Given the description of an element on the screen output the (x, y) to click on. 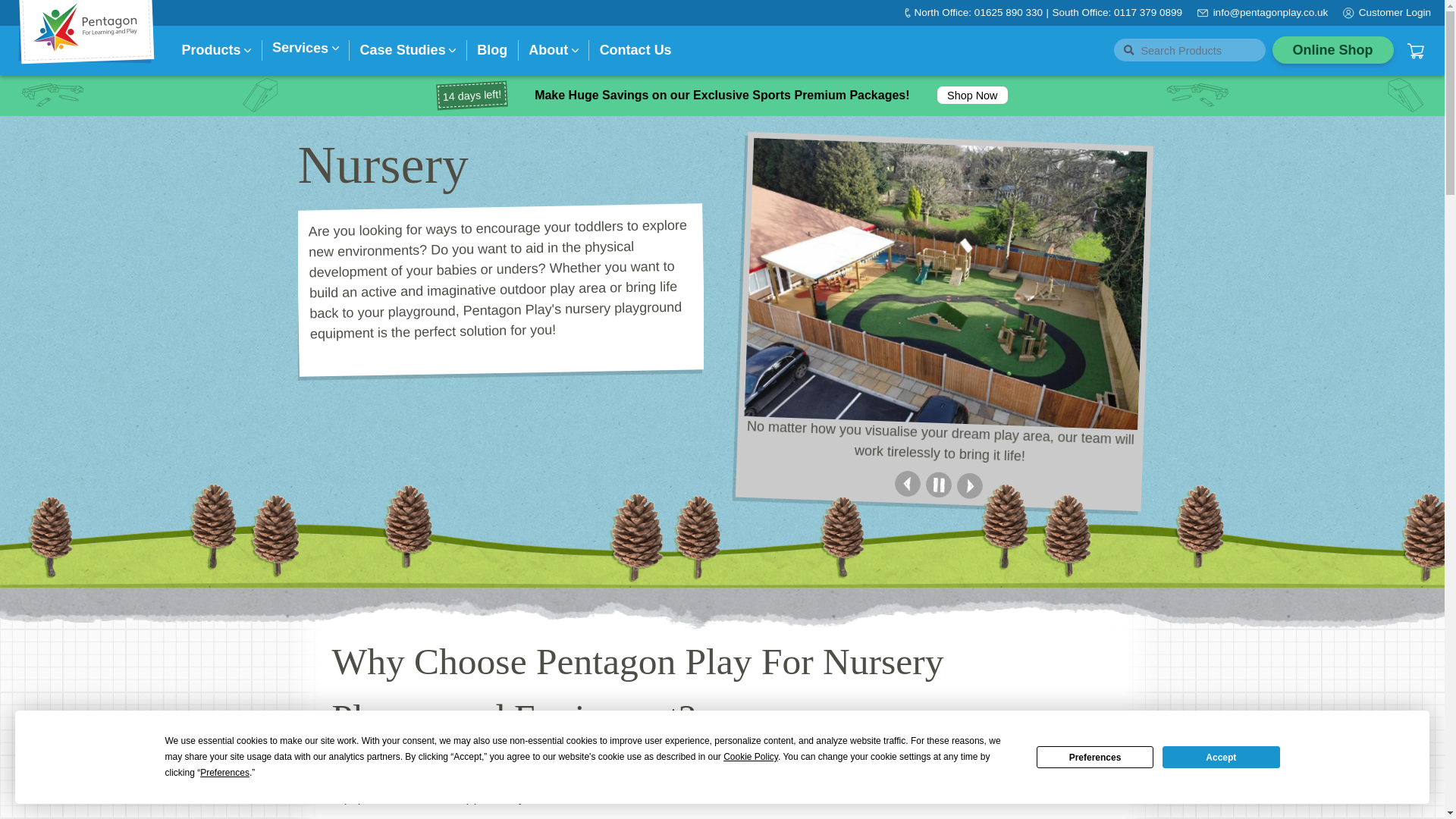
Gable-End Canopies (257, 212)
Kinetic (349, 212)
Themed Play (507, 212)
North Office: 01625 890 330 (978, 12)
Outdoor Classrooms (251, 248)
Activity Play Panels (519, 212)
Essentials Range (518, 212)
Active Play (371, 243)
Playground Lodges (255, 212)
Preferences (1094, 757)
South Office: 0117 379 0899 (1116, 12)
Products (211, 50)
Performance Stages (522, 212)
Sensory Play Equipment (533, 212)
Customer Login (1394, 12)
